Given the description of an element on the screen output the (x, y) to click on. 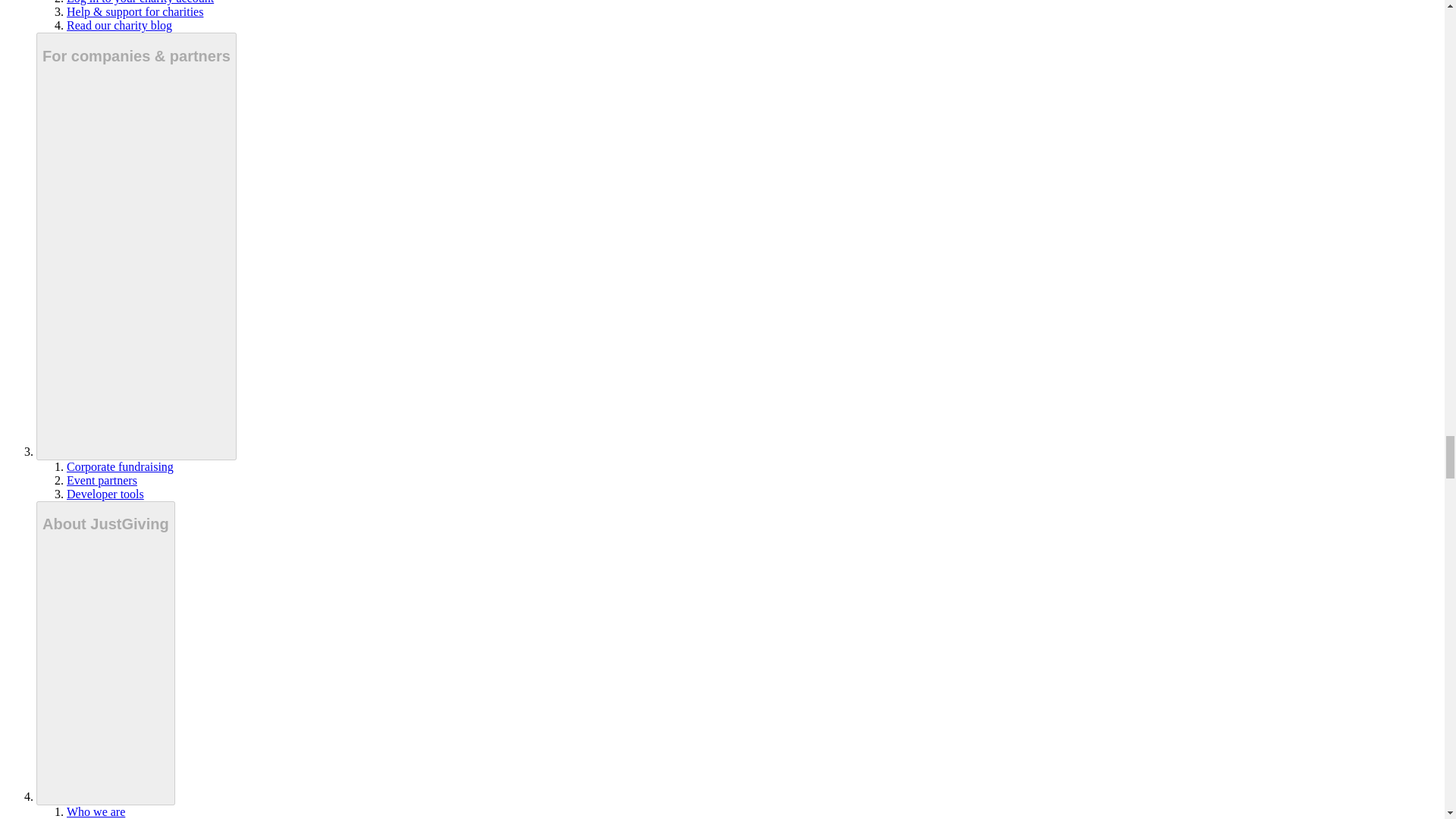
Log in to your charity account (140, 2)
